Given the description of an element on the screen output the (x, y) to click on. 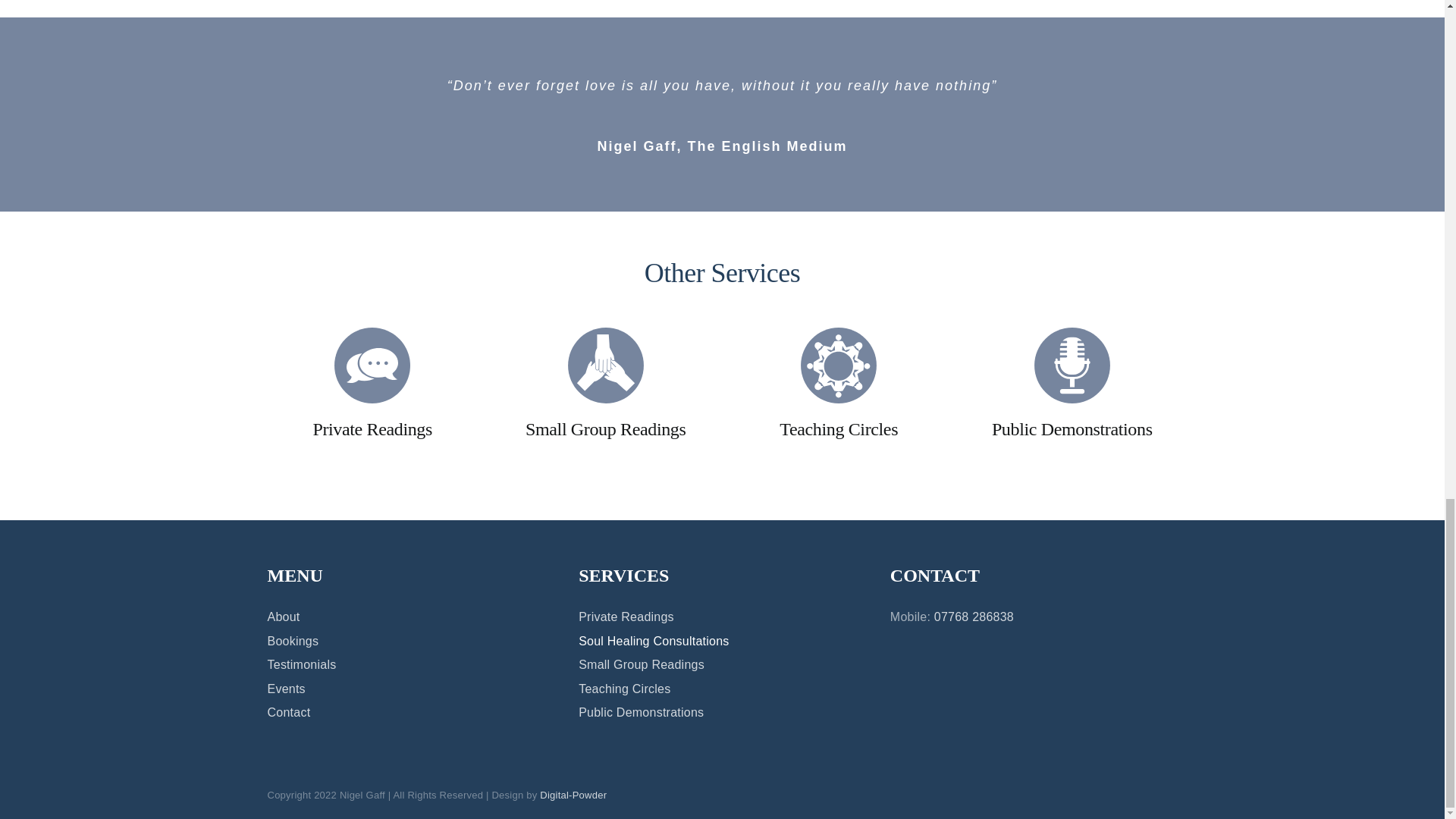
Digital-Powder (573, 794)
